Given the description of an element on the screen output the (x, y) to click on. 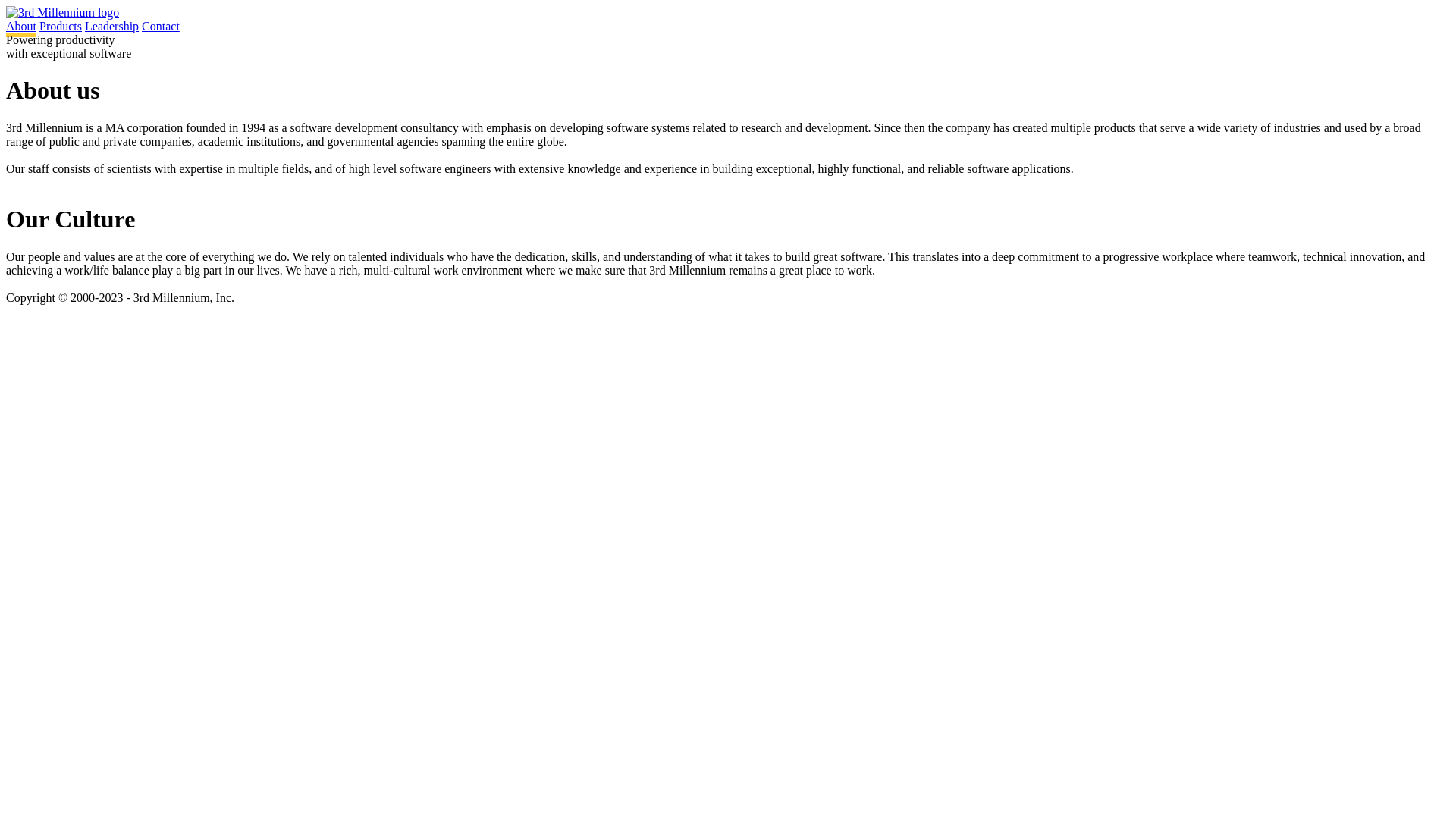
Leadership Element type: text (111, 25)
Contact Element type: text (160, 25)
About Element type: text (21, 28)
Products Element type: text (60, 25)
3rd Millennium logo Element type: hover (62, 12)
3rd Millennium logo Element type: hover (62, 12)
